Given the description of an element on the screen output the (x, y) to click on. 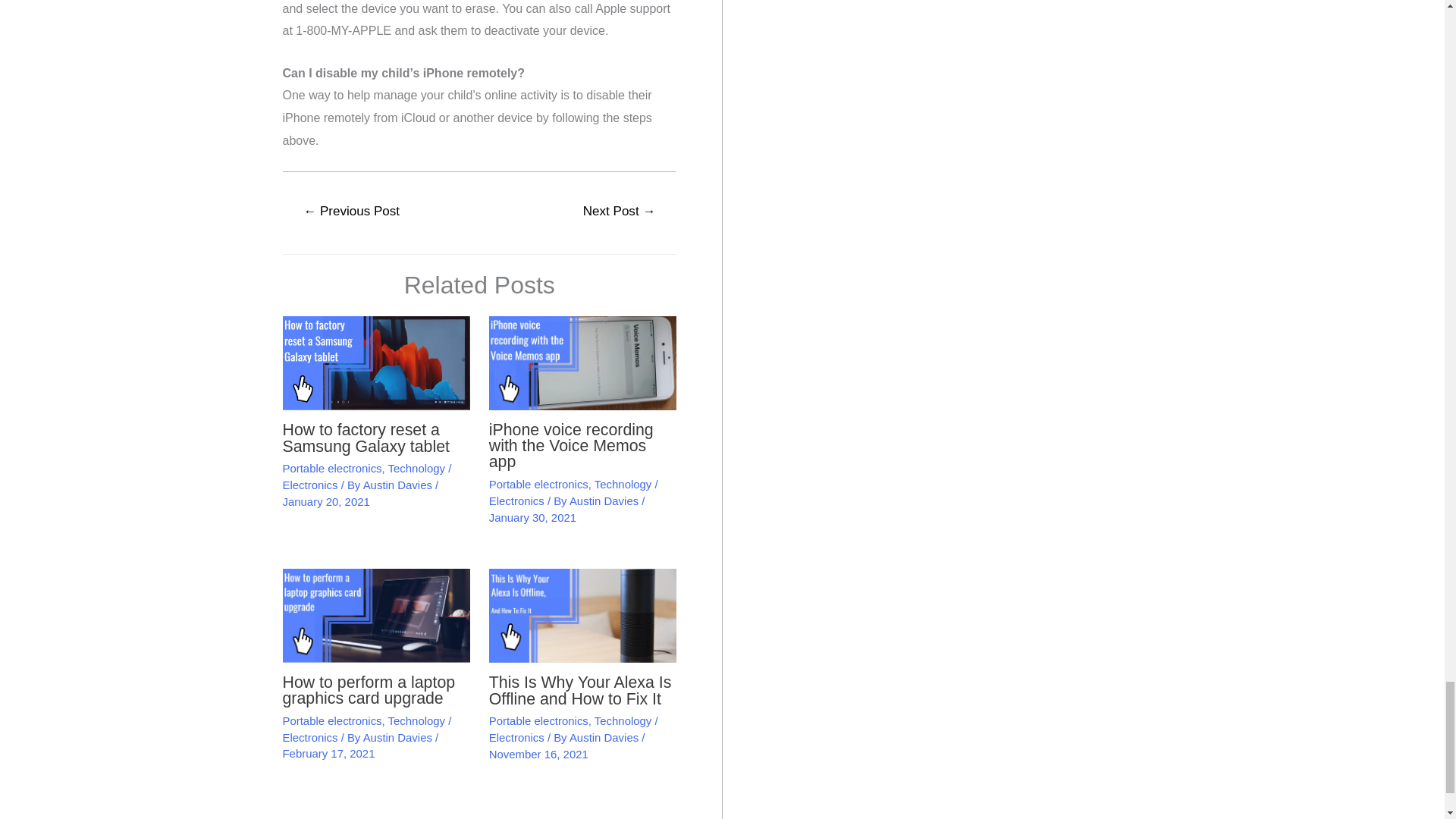
View all posts by Austin Davies (398, 484)
View all posts by Austin Davies (398, 737)
View all posts by Austin Davies (605, 737)
View all posts by Austin Davies (605, 500)
